Given the description of an element on the screen output the (x, y) to click on. 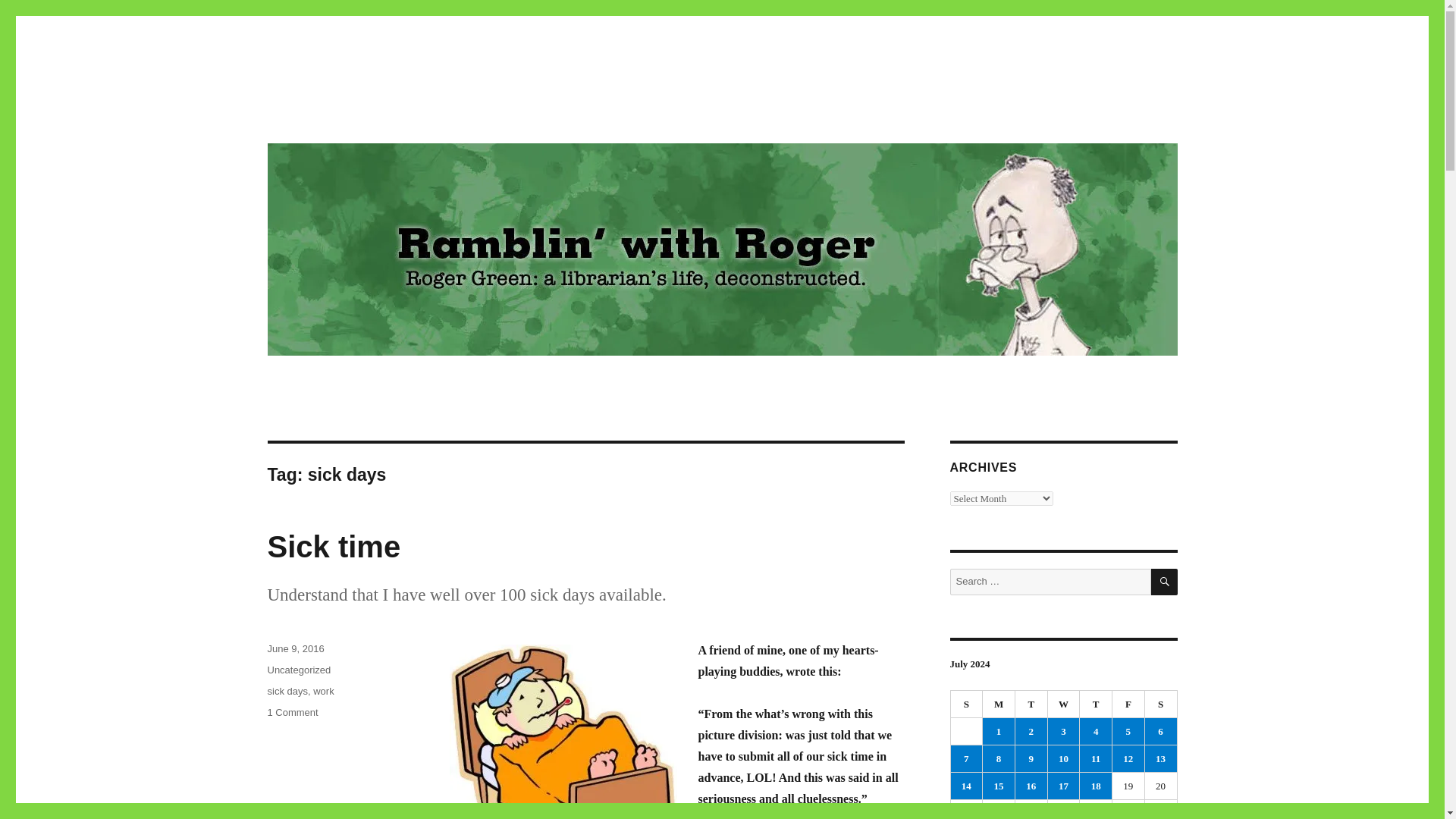
Tuesday (1031, 704)
11 (1096, 758)
6 (1160, 731)
work (323, 690)
13 (1160, 758)
Thursday (1096, 704)
Wednesday (291, 712)
Ramblin' with Roger (1064, 704)
5 (368, 114)
12 (1128, 731)
June 9, 2016 (1128, 758)
4 (294, 648)
Sunday (1096, 731)
7 (967, 704)
